Given the description of an element on the screen output the (x, y) to click on. 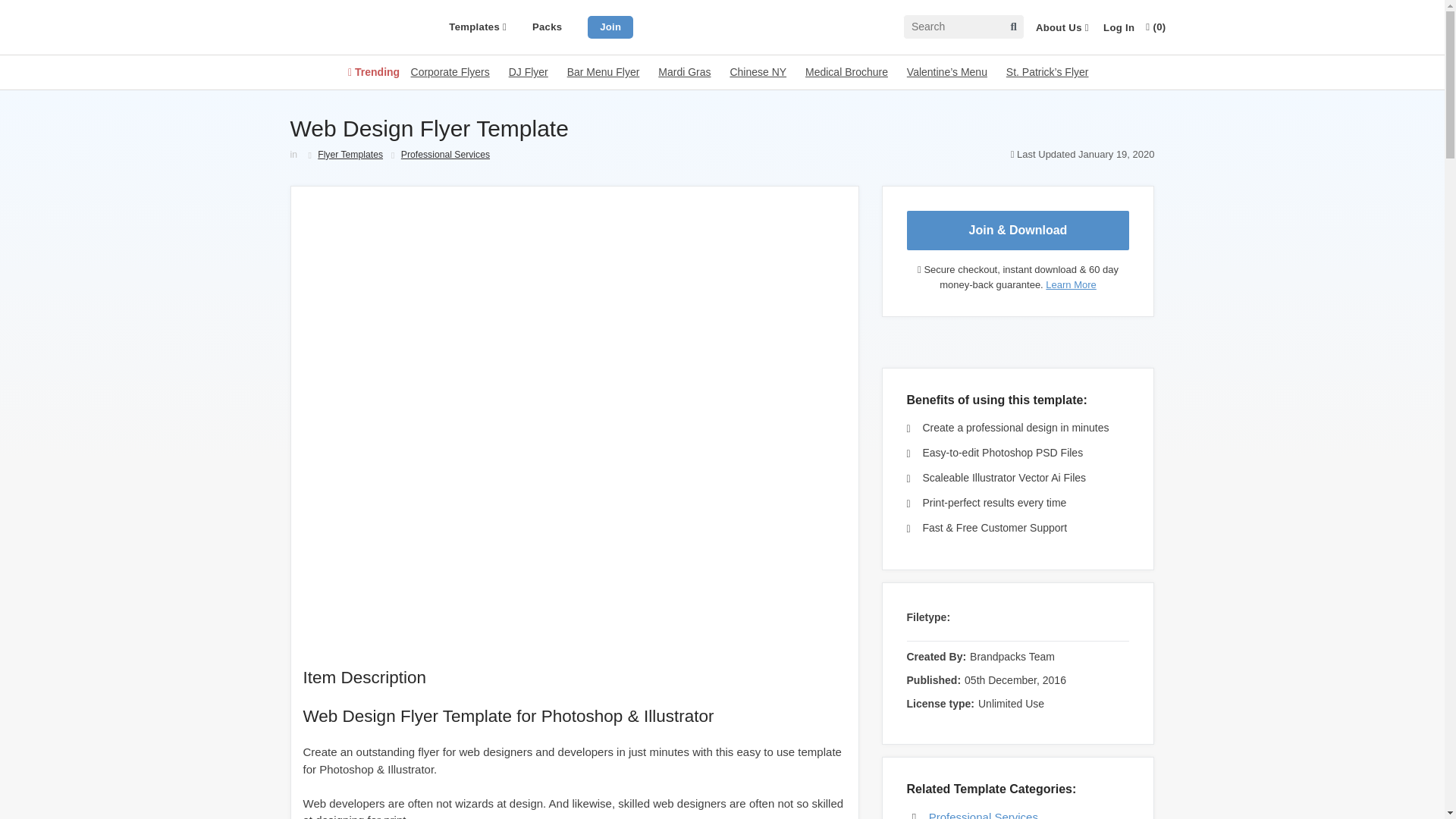
Cocktail Menu Template (757, 71)
About Us (1062, 27)
Templates (478, 27)
Corporate Flyer Templates (449, 71)
Packs (547, 27)
Bar Menu Flyer Template (603, 71)
Join (610, 26)
Log In (1118, 27)
